Given the description of an element on the screen output the (x, y) to click on. 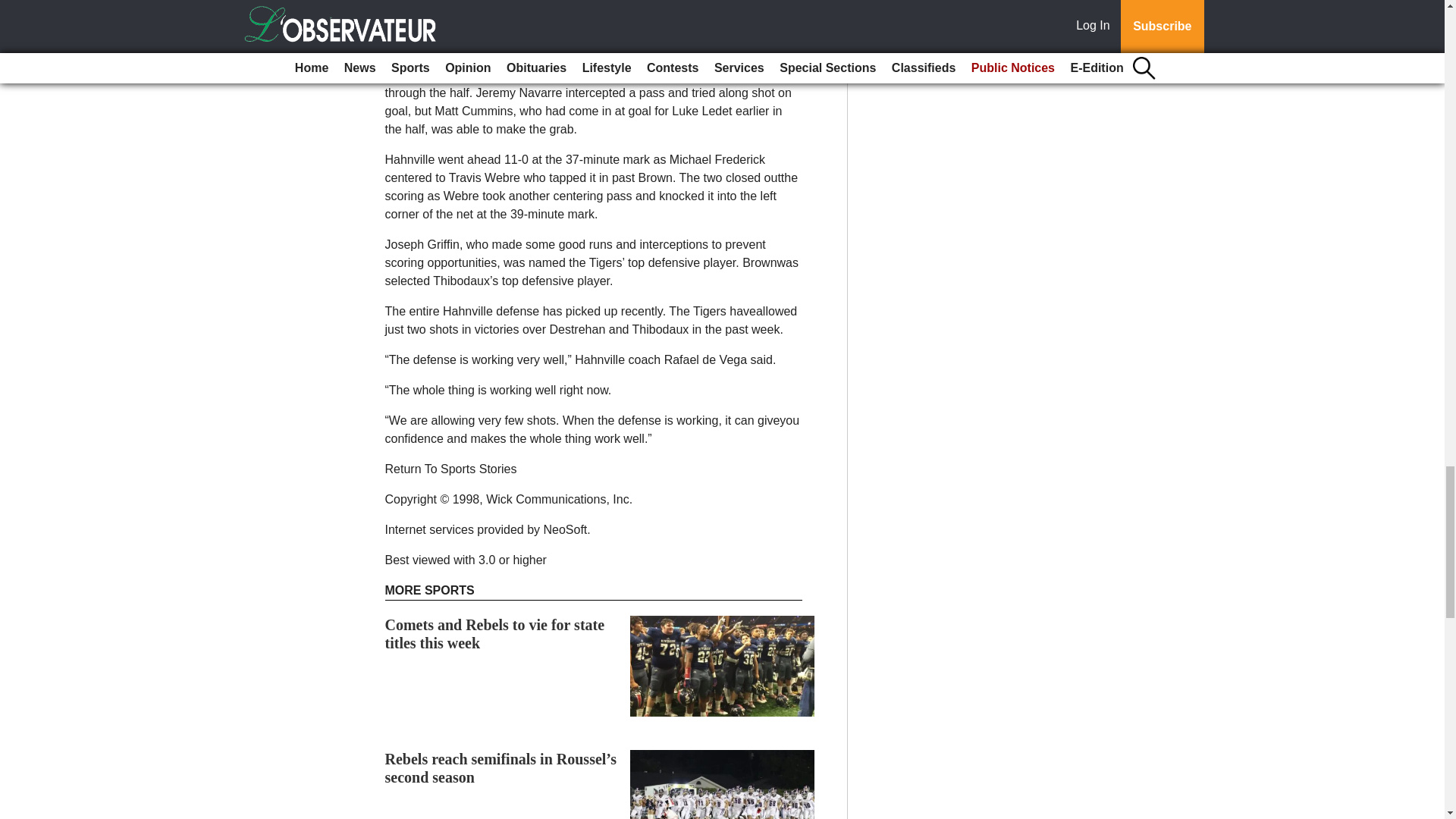
Comets and Rebels to vie for state titles this week (495, 633)
Comets and Rebels to vie for state titles this week (495, 633)
